Given the description of an element on the screen output the (x, y) to click on. 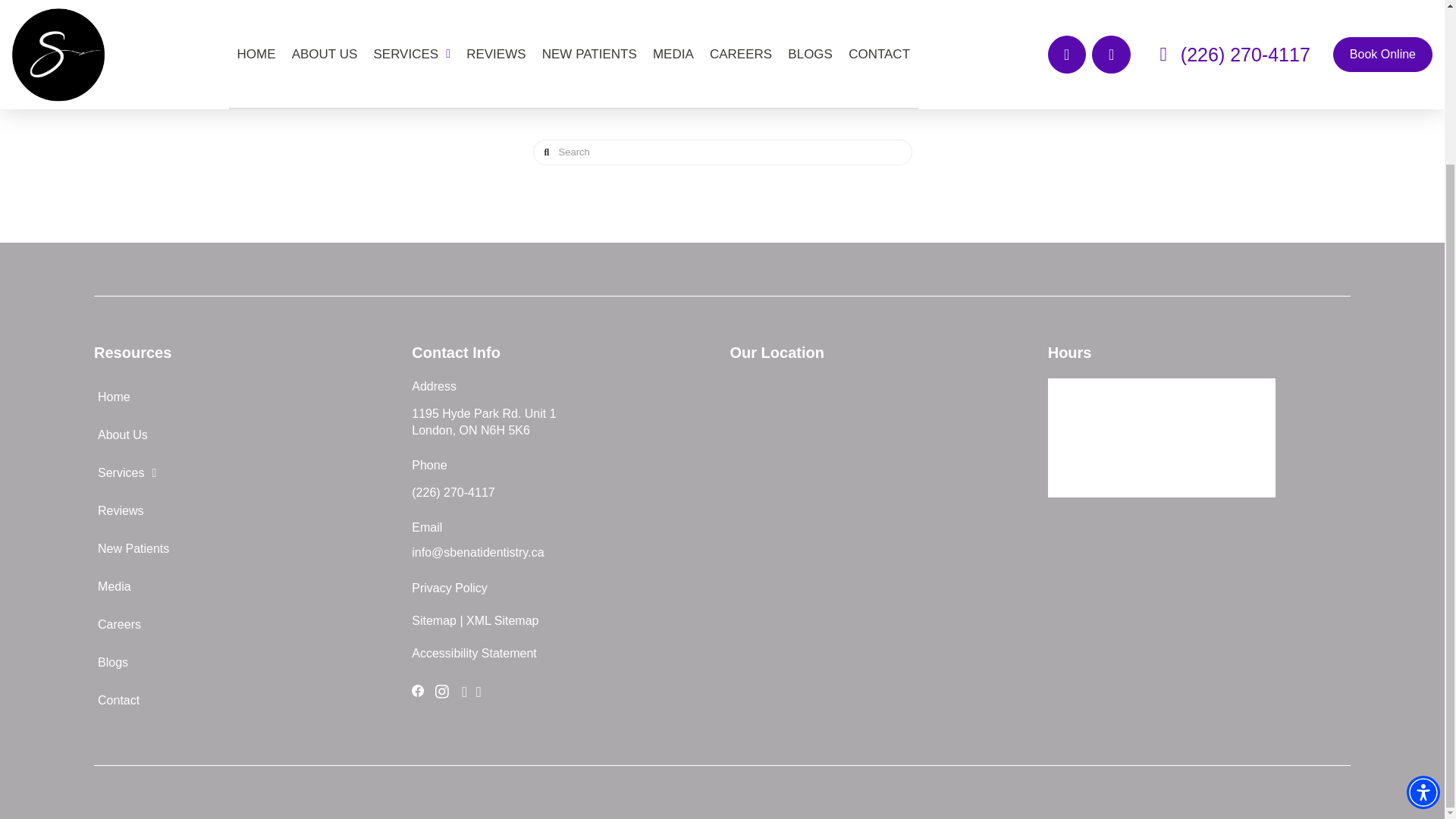
Services (245, 473)
About Us (245, 435)
Home (245, 397)
Accessibility Menu (1422, 597)
Reviews (245, 510)
